Given the description of an element on the screen output the (x, y) to click on. 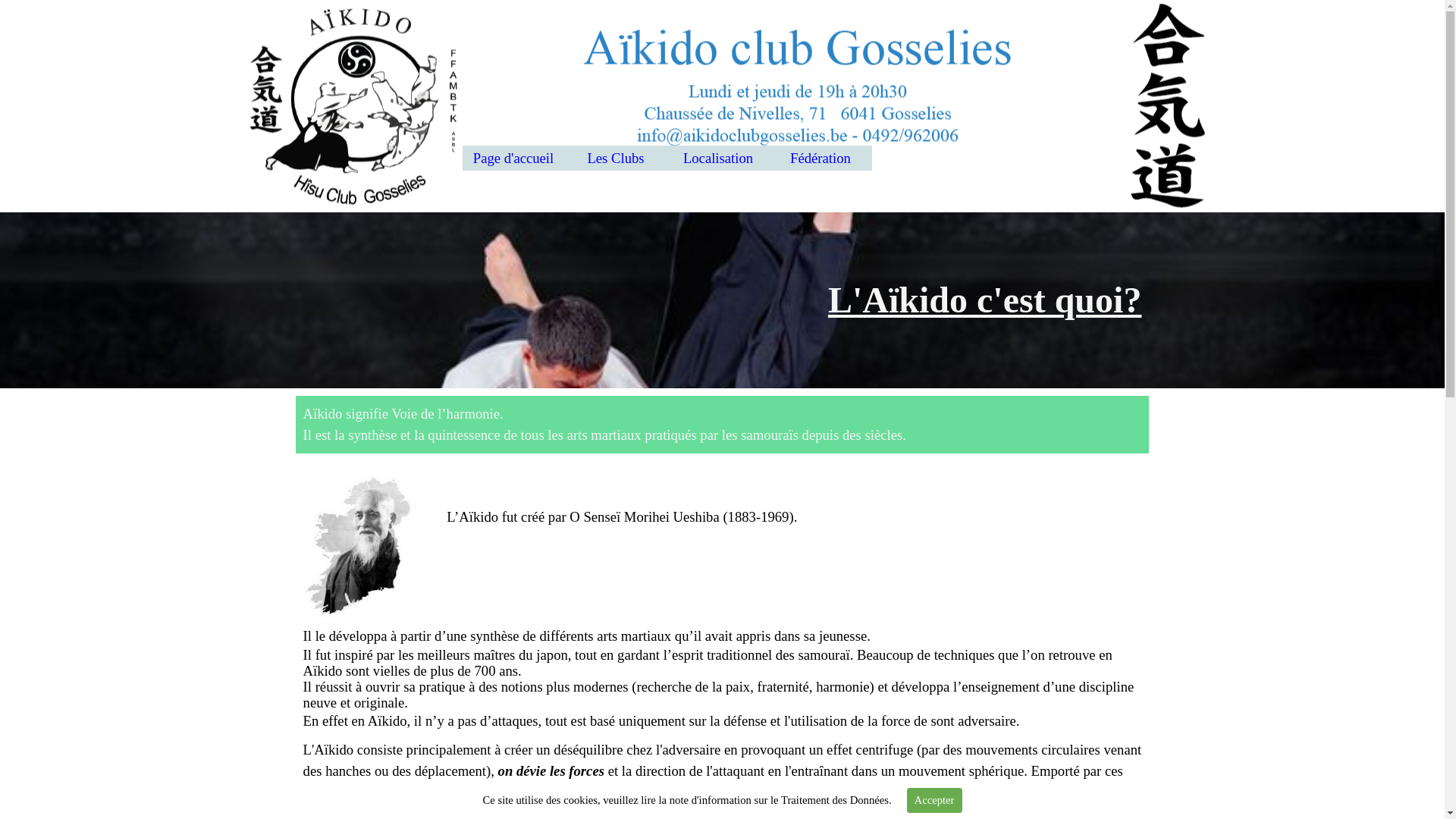
Localisation Element type: text (718, 157)
Page d'accueil Element type: text (513, 157)
